Given the description of an element on the screen output the (x, y) to click on. 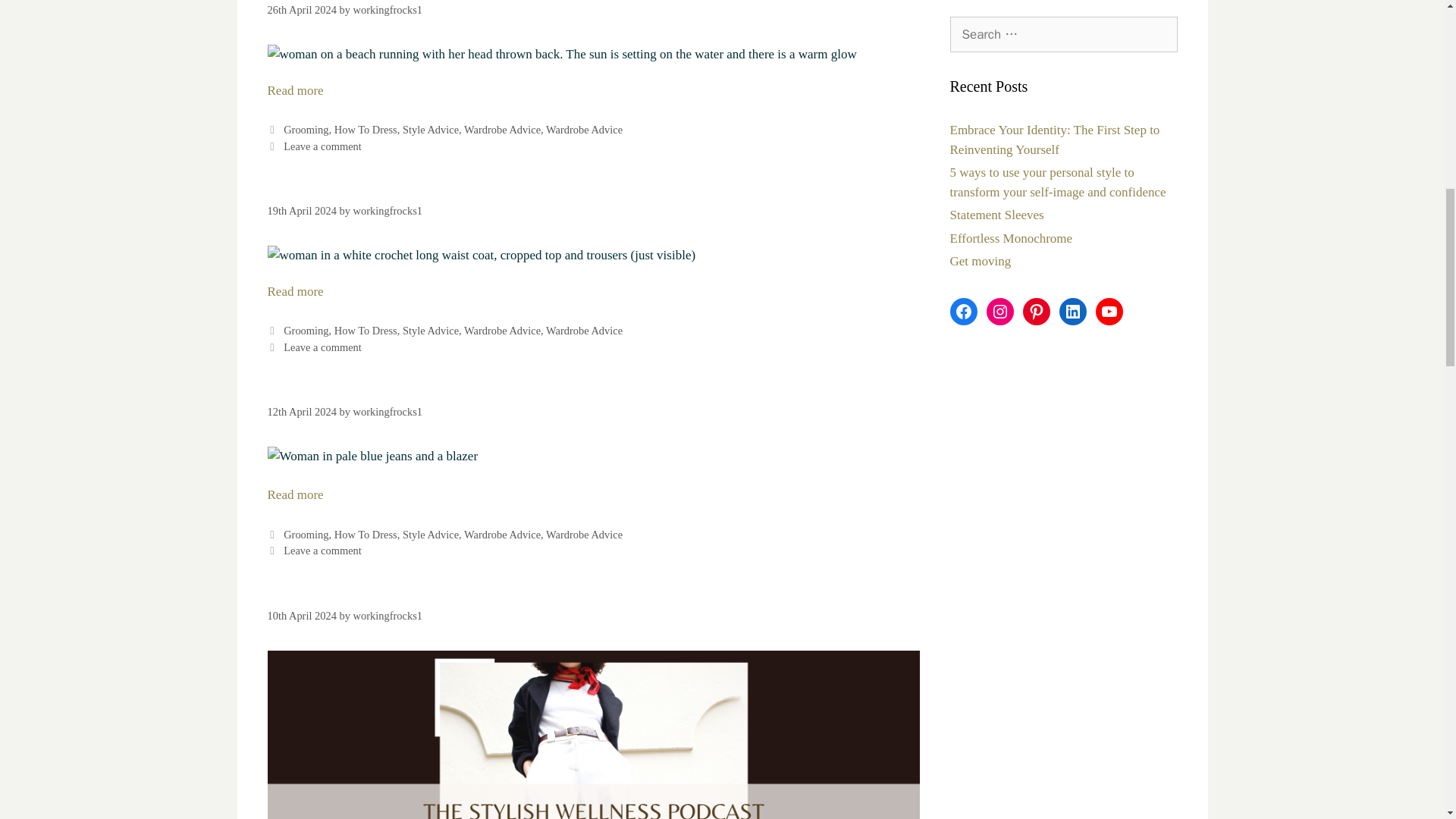
View all posts by workingfrocks1 (387, 210)
Crochet (480, 255)
Crochet (294, 291)
Blazer and Jeans (371, 456)
View all posts by workingfrocks1 (387, 411)
Wellness (561, 54)
View all posts by workingfrocks1 (387, 9)
Wellness (294, 90)
